Given the description of an element on the screen output the (x, y) to click on. 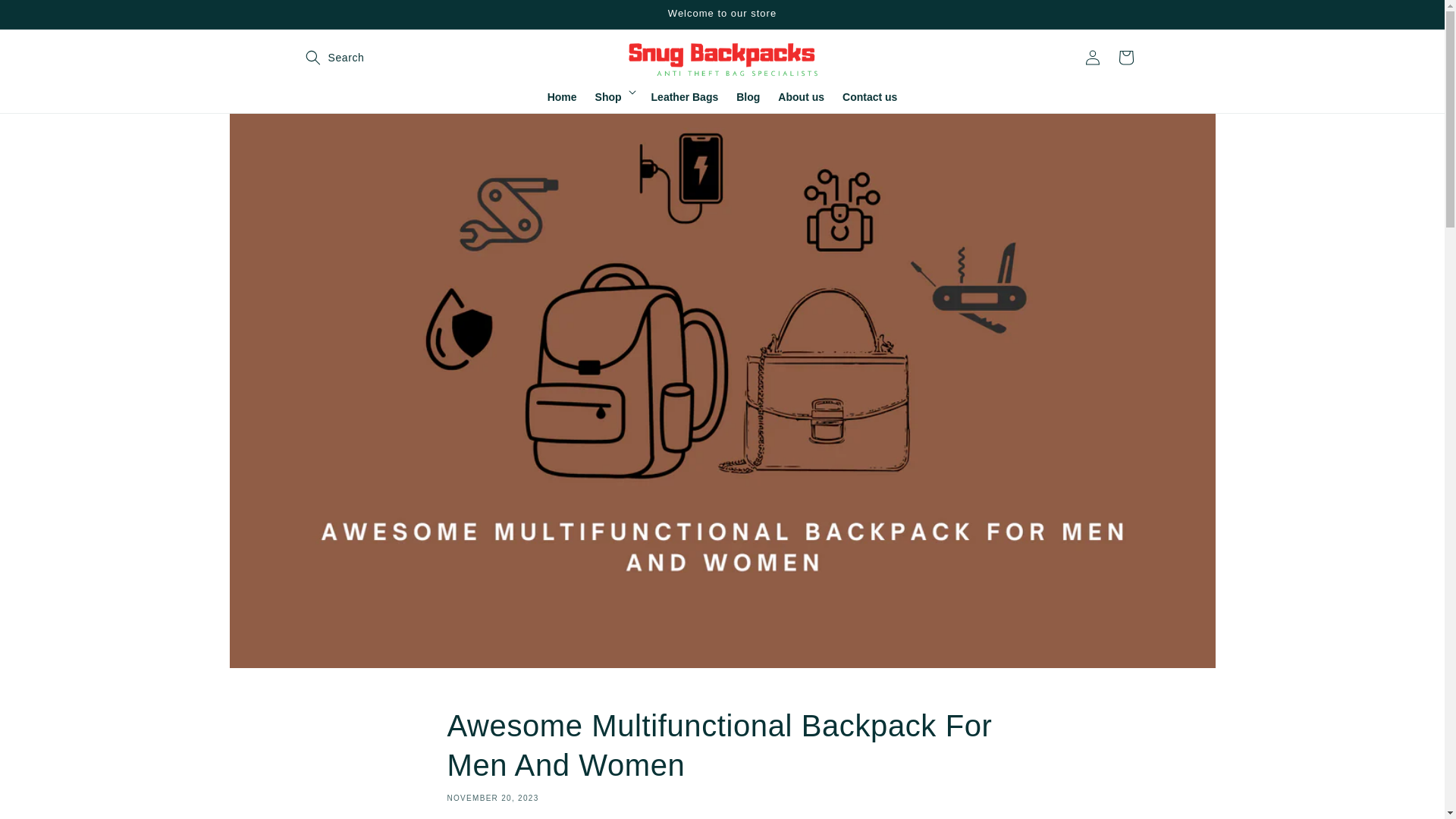
Blog (747, 101)
About us (800, 101)
Contact us (868, 101)
Cart (1124, 57)
Skip to content (45, 17)
Log in (1091, 57)
Home (562, 101)
Leather Bags (685, 101)
